Given the description of an element on the screen output the (x, y) to click on. 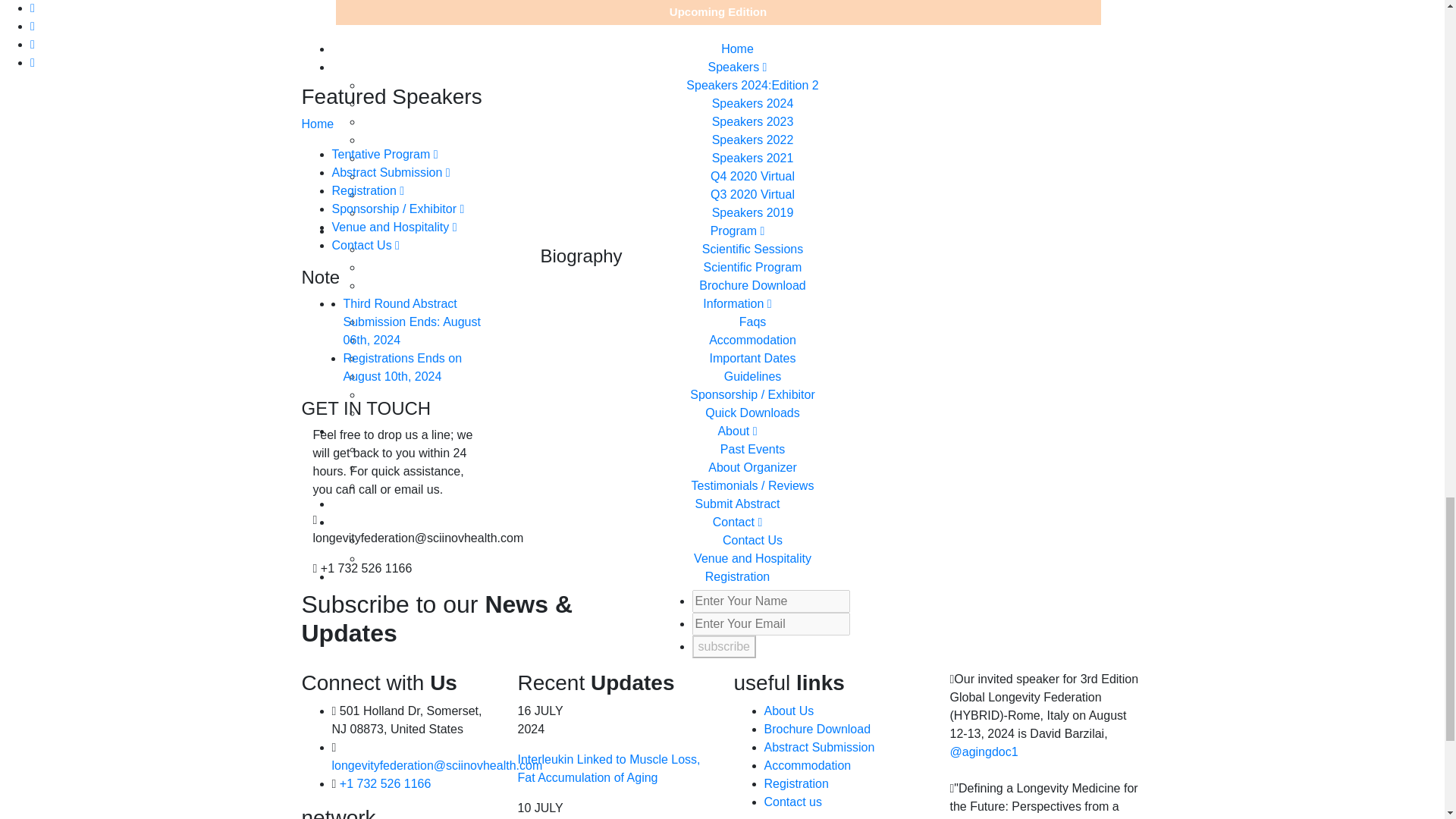
International Precision Medicine Conference (608, 767)
